Given the description of an element on the screen output the (x, y) to click on. 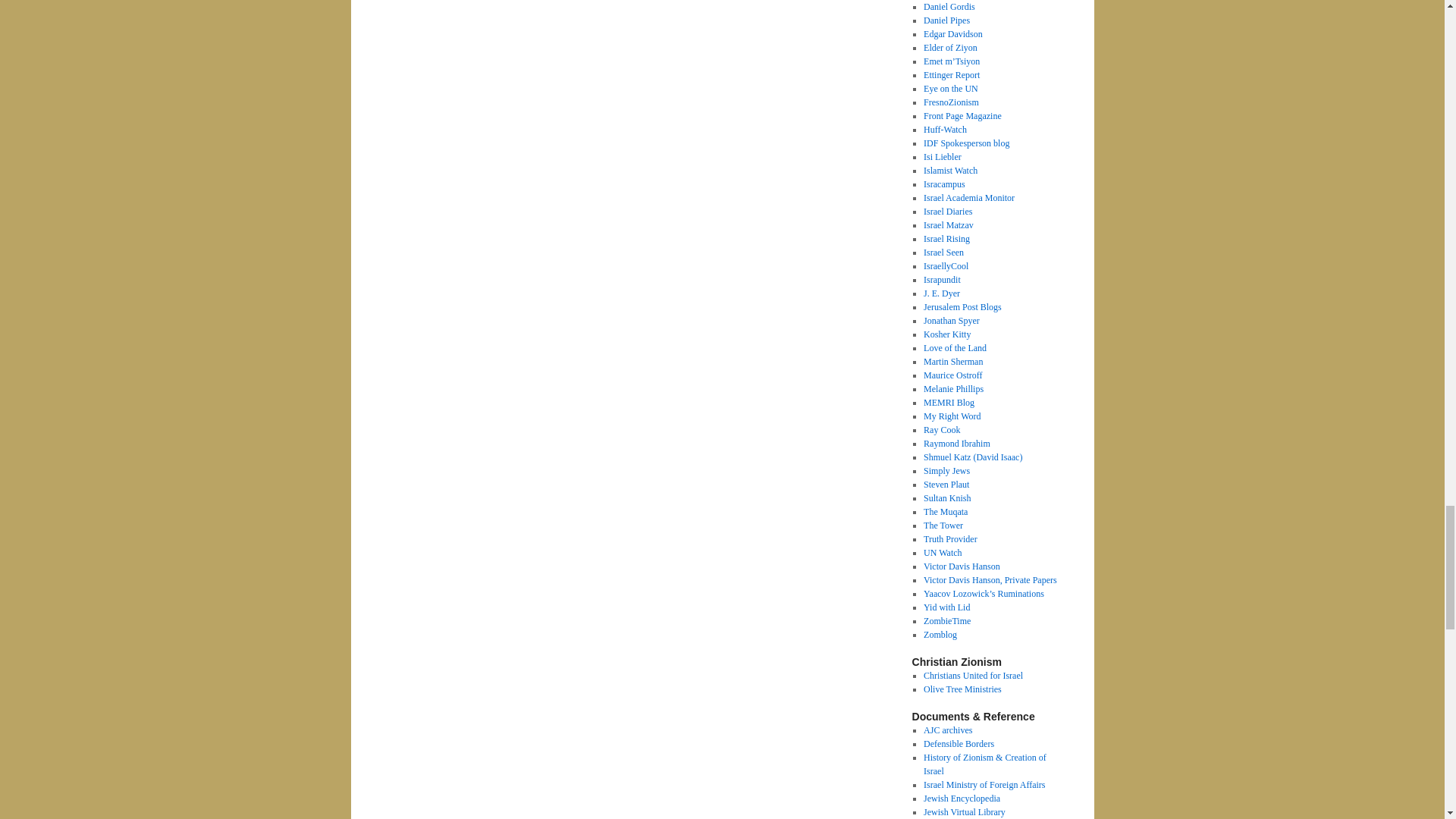
Sheri Oz (947, 211)
